Given the description of an element on the screen output the (x, y) to click on. 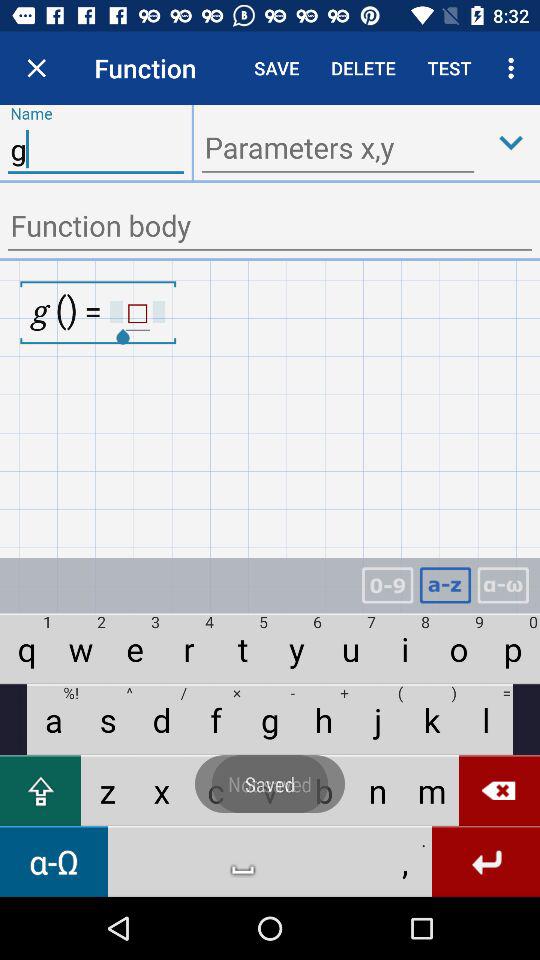
enter function body (269, 227)
